Given the description of an element on the screen output the (x, y) to click on. 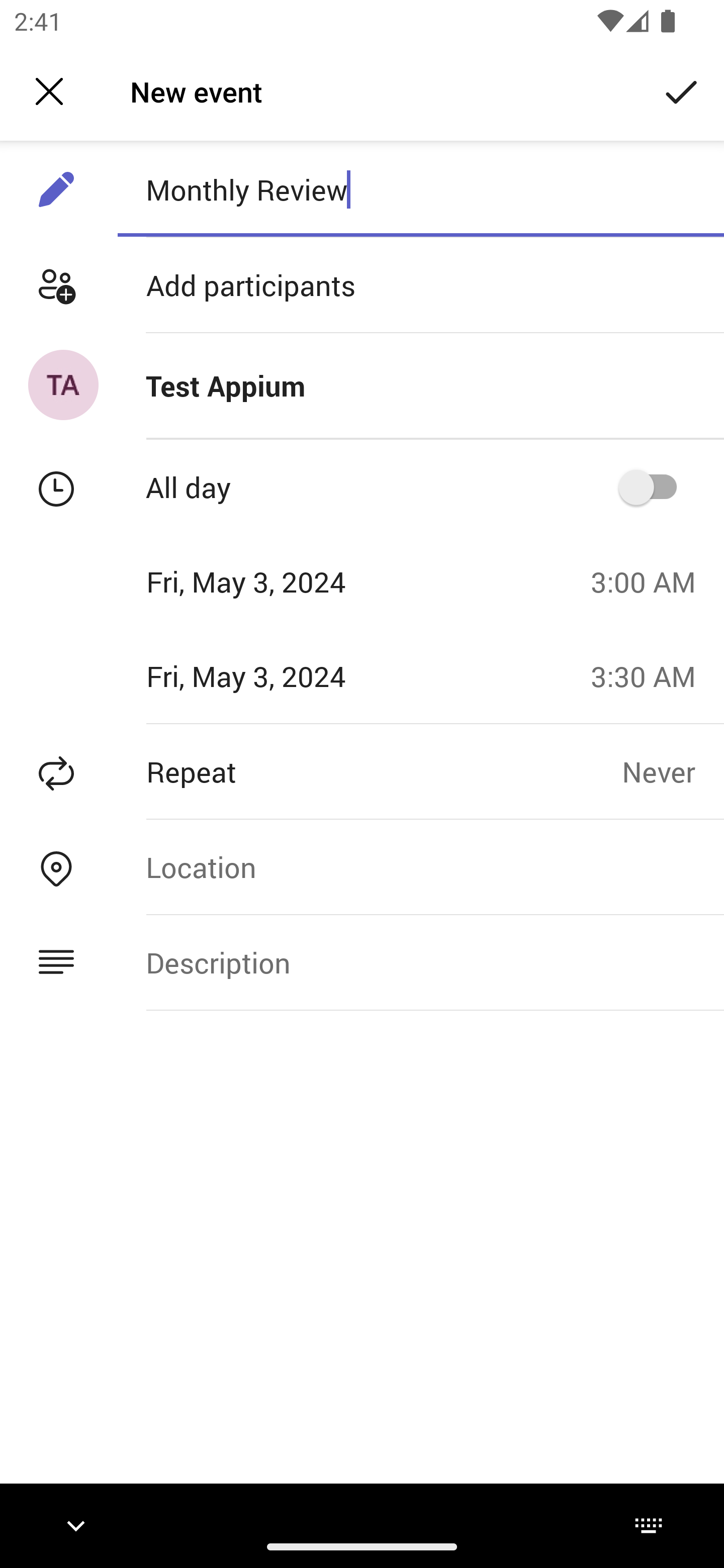
Back (49, 91)
Send invite (681, 90)
Monthly Review (420, 189)
Add participants Add participants option (362, 285)
All day (654, 486)
Fri, May 3, 2024 Starts Friday May 03, 2024 (288, 581)
3:00 AM Start time 3:00 AM (650, 581)
Fri, May 3, 2024 Ends Friday May 03, 2024 (288, 675)
3:30 AM End time 3:30 AM (650, 675)
Repeat (310, 771)
Never Repeat Never (672, 771)
Location (420, 867)
Description (420, 962)
